Given the description of an element on the screen output the (x, y) to click on. 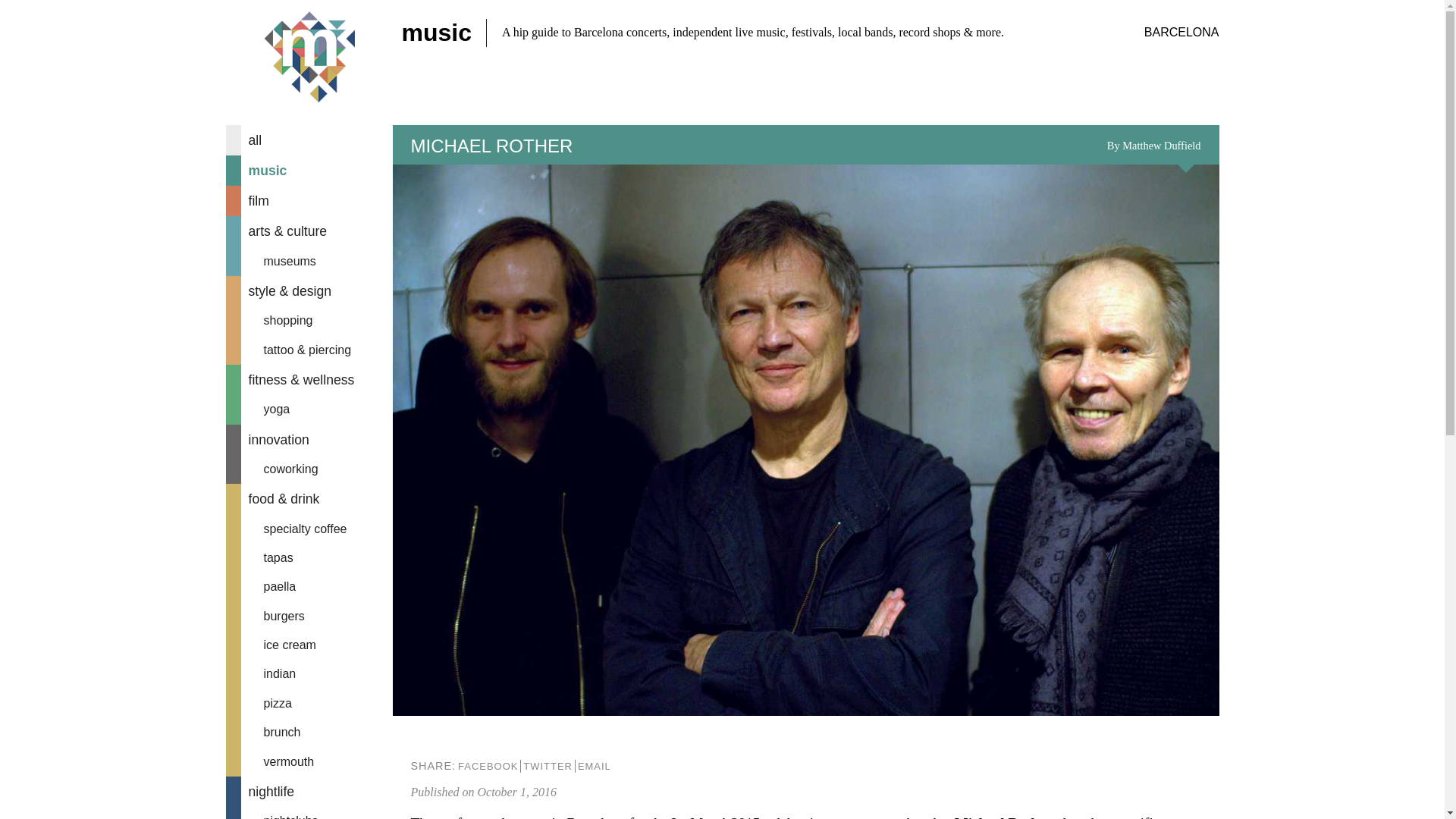
film (309, 200)
music (309, 170)
museums (309, 261)
coworking (309, 469)
tapas (309, 557)
paella (309, 586)
shopping (309, 320)
specialty coffee (309, 528)
yoga (309, 409)
all (309, 140)
